Given the description of an element on the screen output the (x, y) to click on. 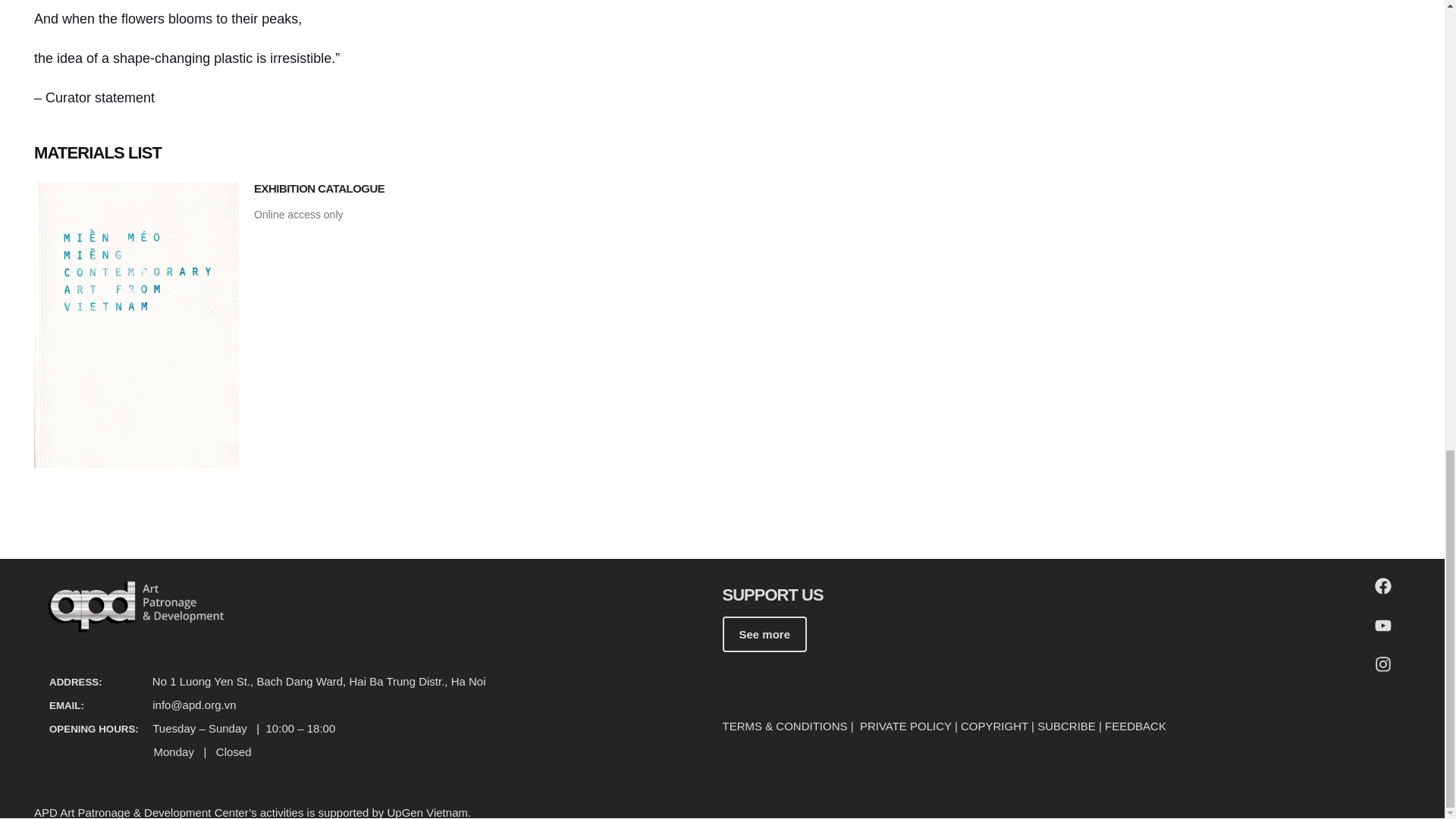
COPYRIGHT (993, 725)
See more (764, 633)
FEEDBACK (1135, 725)
EXHIBITION CATALOGUE (318, 187)
PRIVATE POLICY (906, 725)
SUBCRIBE (1066, 725)
